Given the description of an element on the screen output the (x, y) to click on. 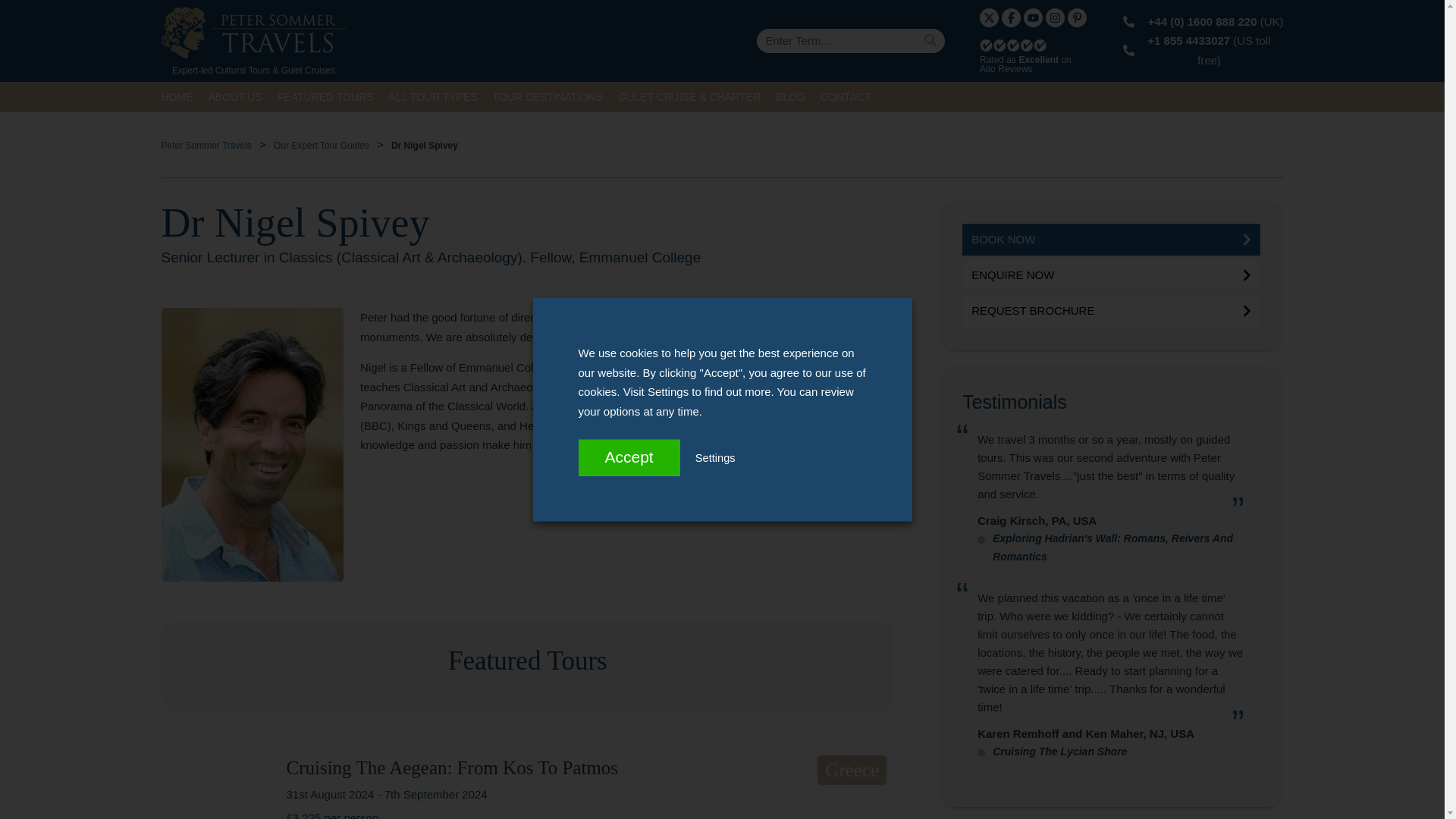
Join in the conversation with Peter Sommer Travels on X (988, 17)
Travel videos from Peter Sommer Travels on You Tube (1032, 17)
Cruising the Aegean: From Kos to Patmos (211, 787)
Follow Peter Sommer Travels on Facebook (1010, 17)
Peter Sommer Travels logo (253, 32)
